Given the description of an element on the screen output the (x, y) to click on. 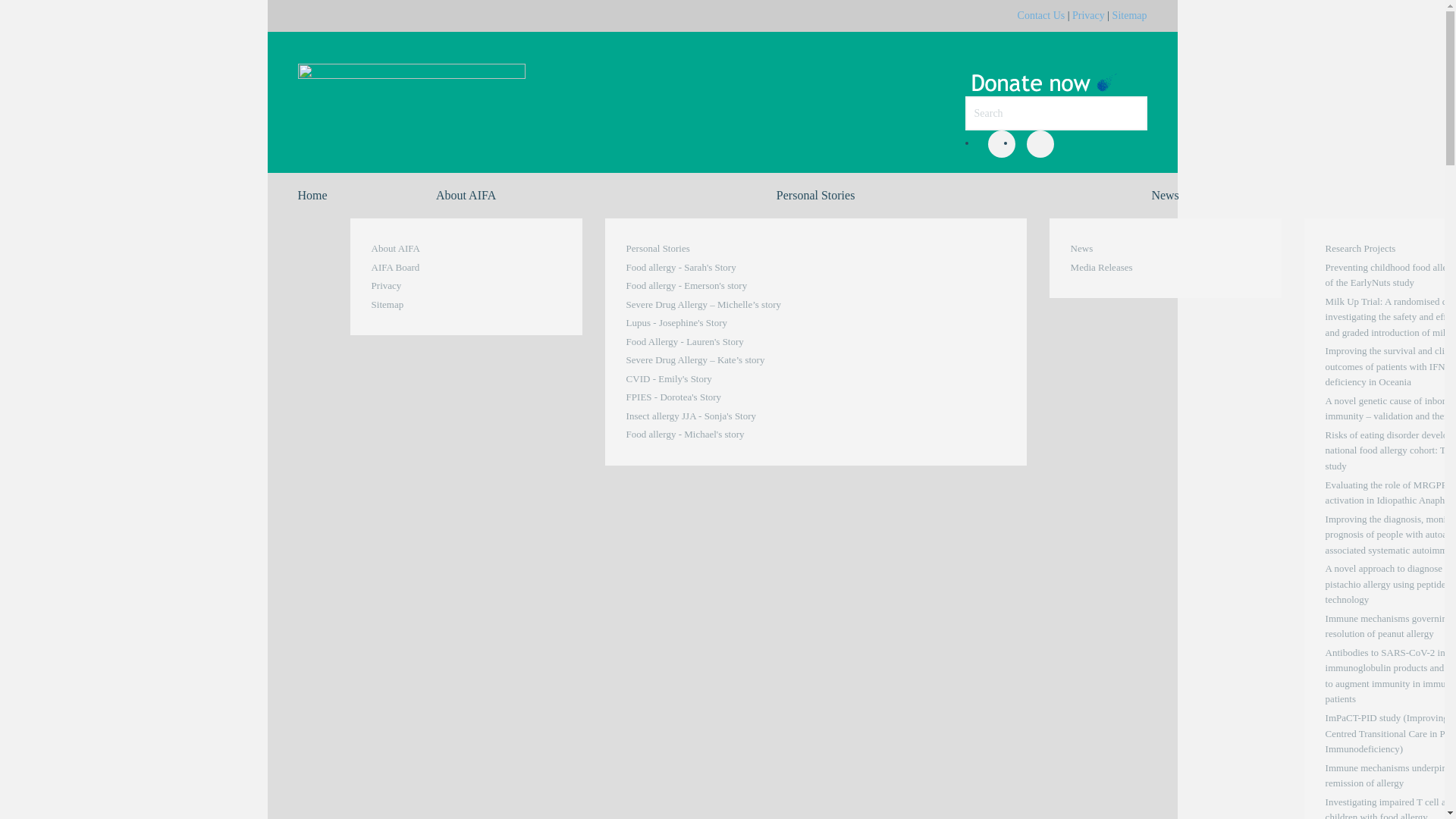
Food allergy - Sarah's Story Element type: text (716, 267)
Privacy Element type: text (466, 285)
Insect allergy JJA - Sonja's Story Element type: text (716, 416)
Sitemap Element type: text (466, 304)
News Element type: text (1165, 248)
News Element type: text (1165, 195)
Donate now Element type: hover (1045, 71)
About AIFA Element type: text (466, 248)
Privacy Element type: text (1088, 15)
Home Element type: text (311, 195)
Media Releases Element type: text (1165, 267)
Food allergy - Michael's story Element type: text (716, 434)
About AIFA Element type: text (466, 195)
AIFA Board Element type: text (466, 267)
FPIES - Dorotea's Story Element type: text (716, 397)
Food Allergy - Lauren's Story Element type: text (716, 341)
Personal Stories Element type: text (815, 195)
Sitemap Element type: text (1129, 15)
Contact Us Element type: text (1041, 15)
Food allergy - Emerson's story Element type: text (716, 285)
Lupus - Josephine's Story Element type: text (716, 322)
Personal Stories Element type: text (716, 248)
CVID - Emily's Story Element type: text (716, 379)
